Given the description of an element on the screen output the (x, y) to click on. 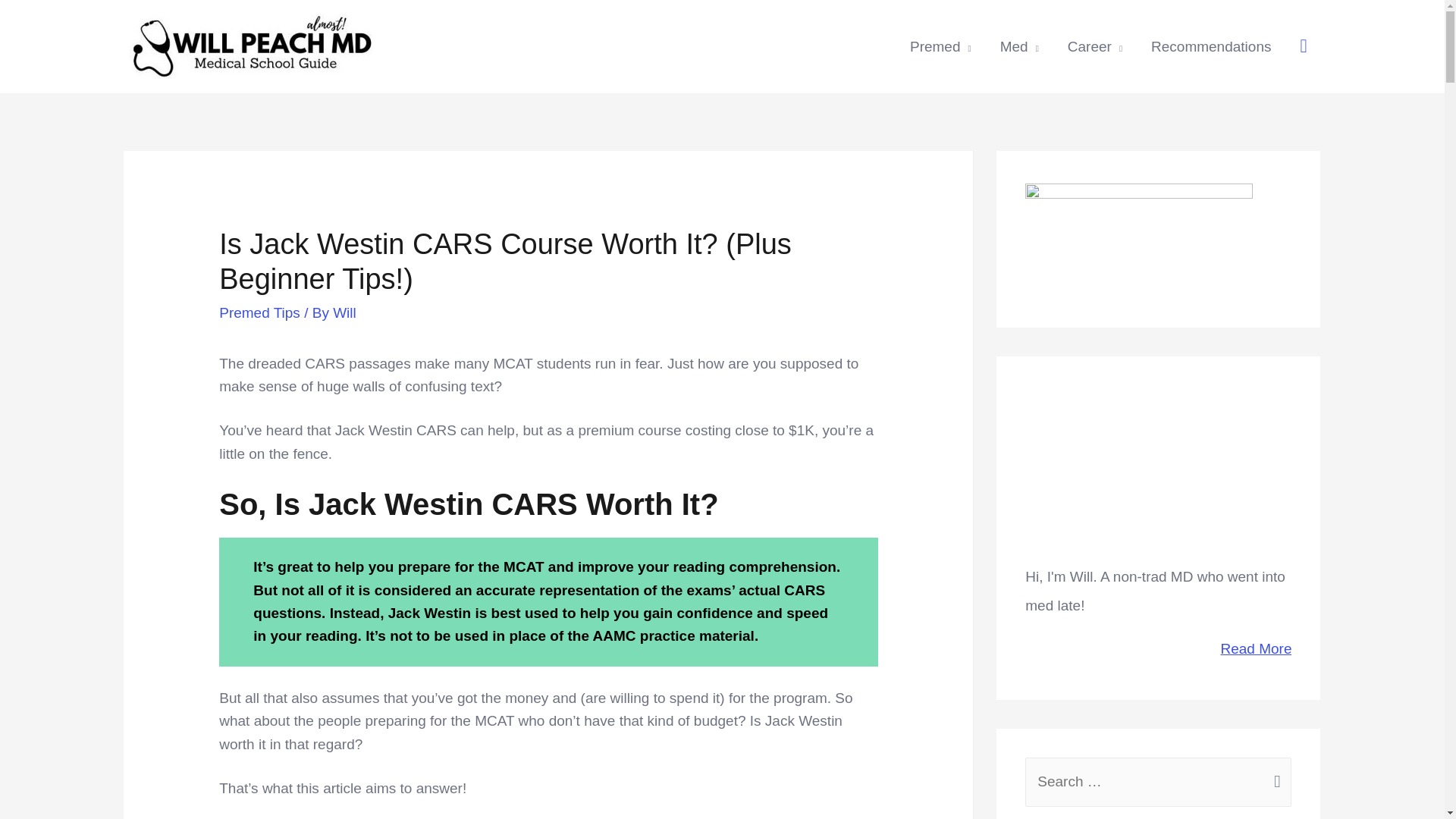
Recommendations (1211, 47)
Search (1274, 774)
Premed (940, 47)
Med (1018, 47)
Premed Tips (259, 312)
Will (344, 312)
Search (1274, 774)
Career (1094, 47)
View all posts by Will (344, 312)
